Given the description of an element on the screen output the (x, y) to click on. 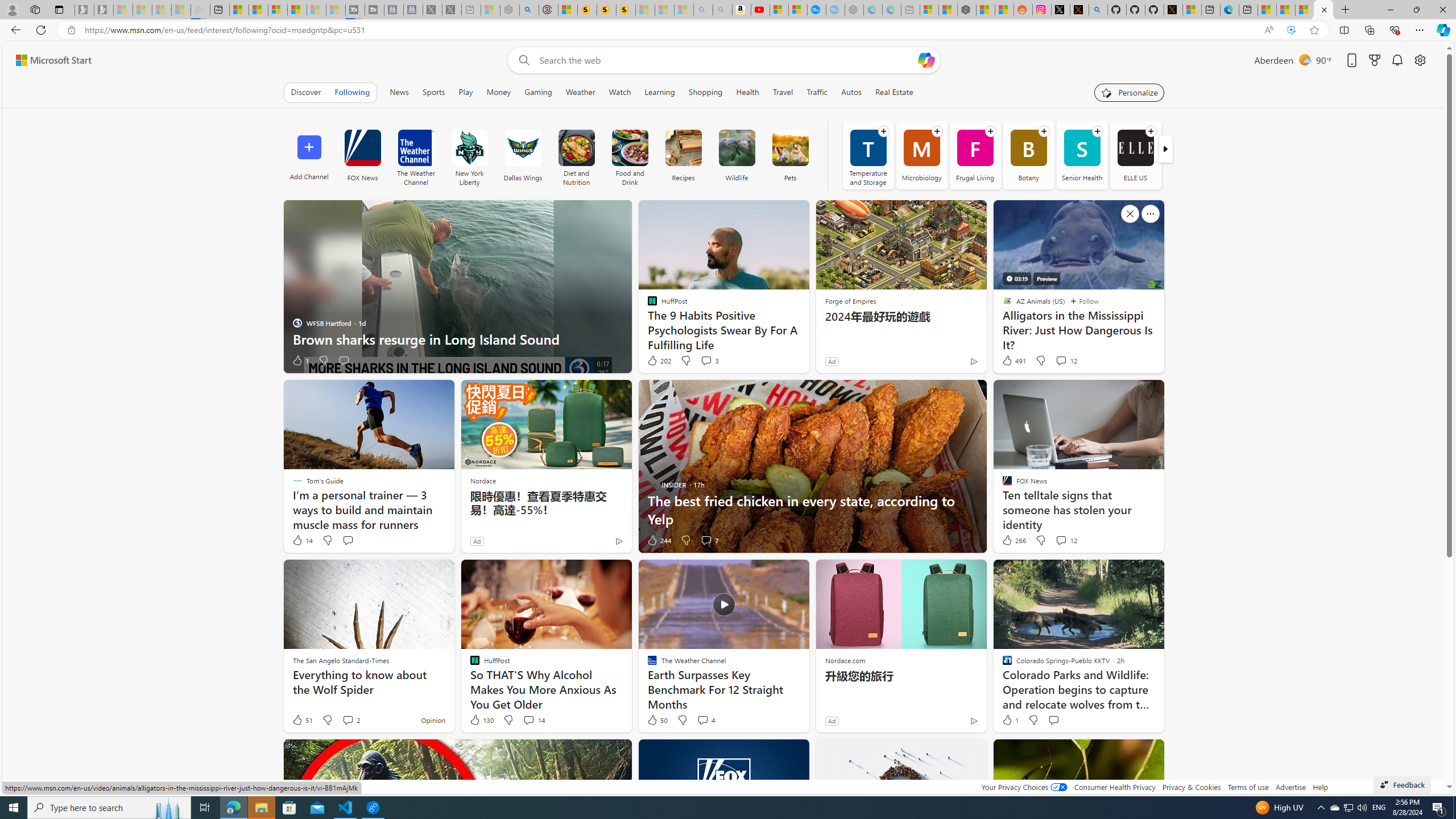
The Weather Channel (415, 147)
14 Like (301, 539)
Your Privacy Choices (1024, 786)
Follow channel (1150, 130)
Frugal Living (975, 155)
View comments 4 Comment (705, 719)
